Given the description of an element on the screen output the (x, y) to click on. 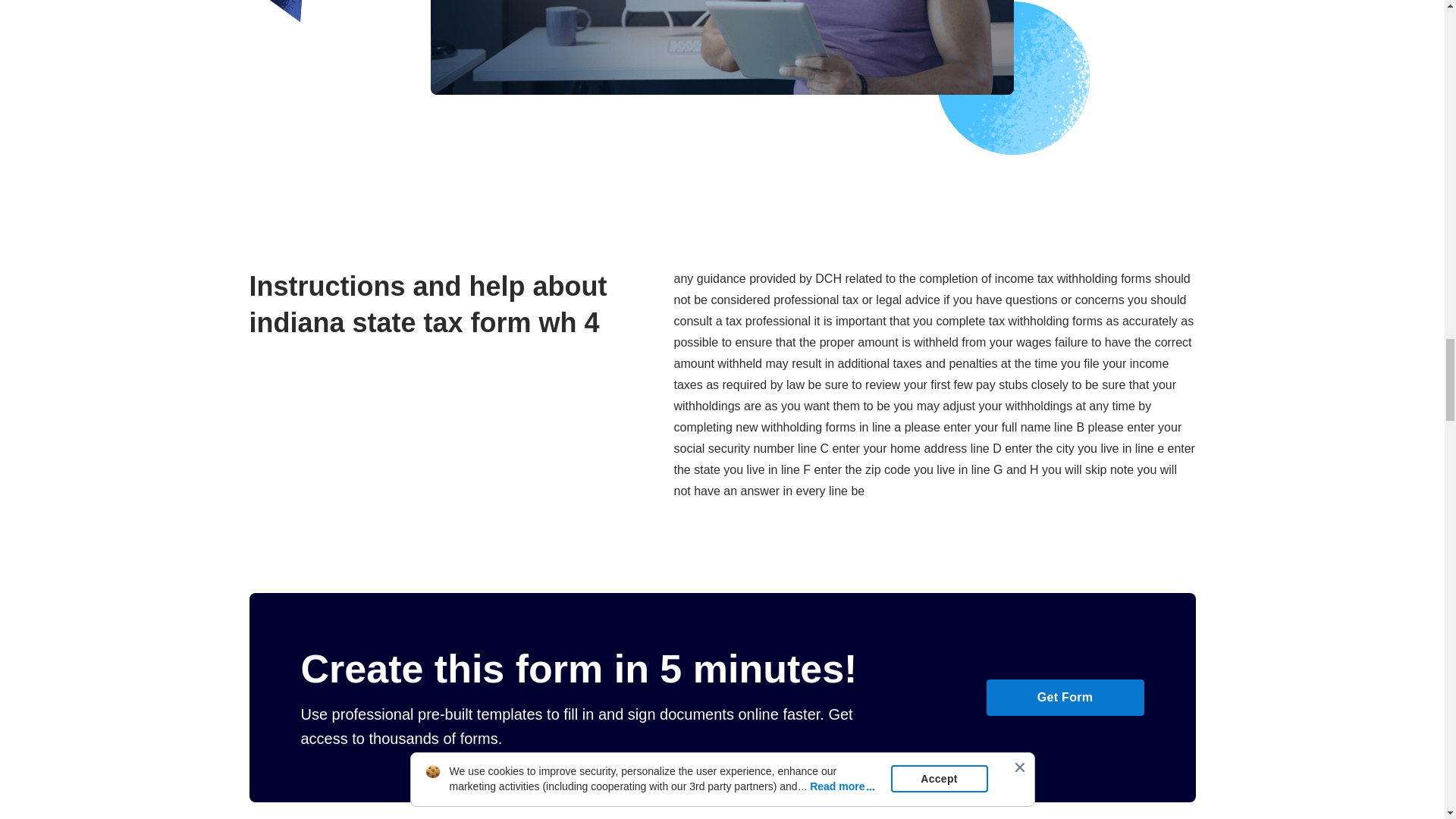
Get Form (1063, 697)
